Given the description of an element on the screen output the (x, y) to click on. 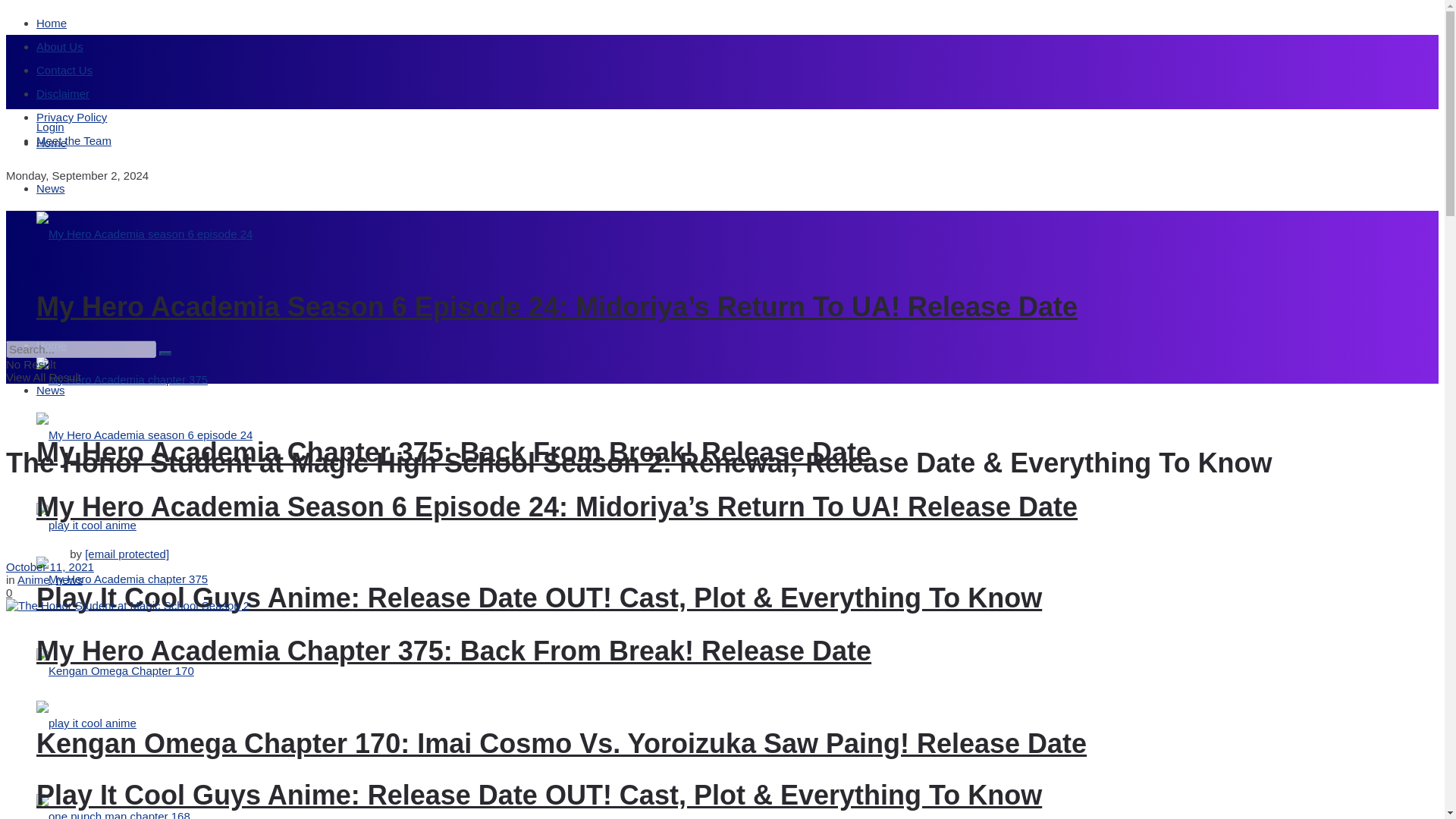
Home (51, 142)
About Us (59, 46)
News (50, 187)
Contact Us (64, 69)
Privacy Policy (71, 116)
Home (51, 22)
My Hero Academia Chapter 375: Back From Break! Release Date (453, 451)
Login (50, 126)
Meet the Team (74, 140)
